Given the description of an element on the screen output the (x, y) to click on. 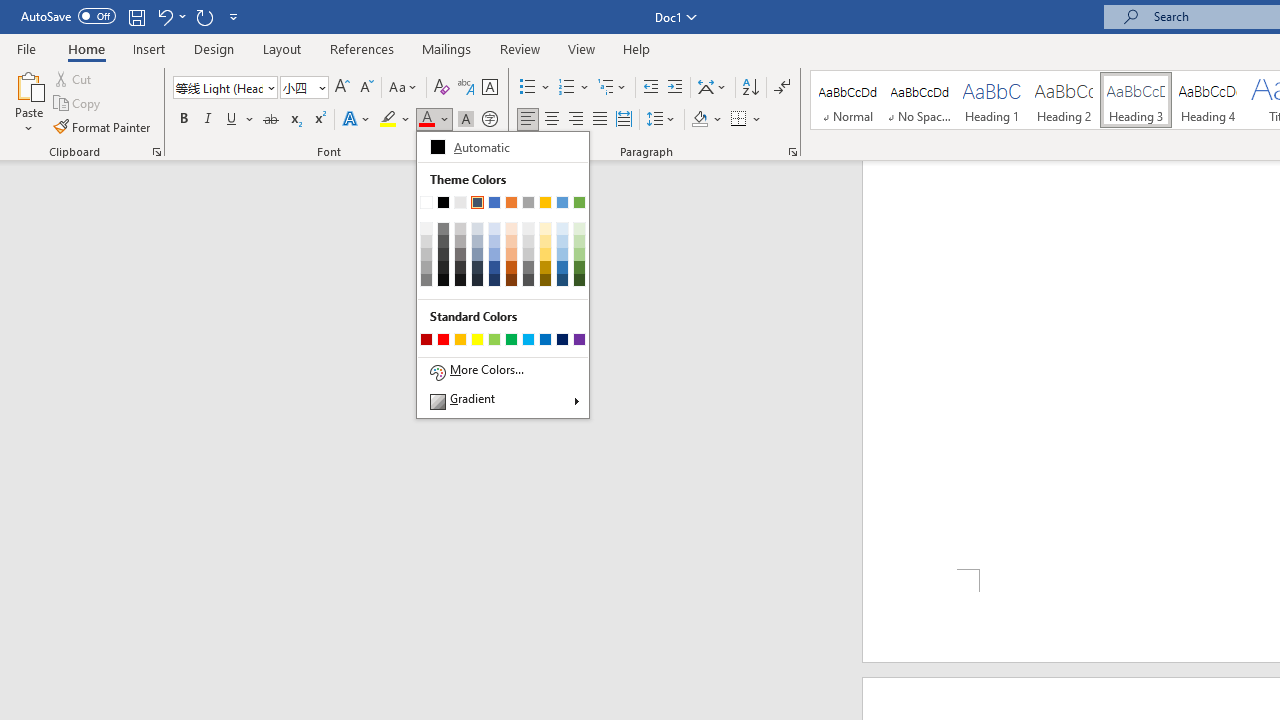
Font Size (304, 87)
Line and Paragraph Spacing (661, 119)
File Tab (26, 48)
Shrink Font (365, 87)
Borders (739, 119)
Shading RGB(0, 0, 0) (699, 119)
Multilevel List (613, 87)
Cut (73, 78)
Paste (28, 102)
Paste (28, 84)
Subscript (294, 119)
Change Case (404, 87)
Quick Access Toolbar (131, 16)
Font Color Blue-Gray, Text 2 (426, 119)
